Given the description of an element on the screen output the (x, y) to click on. 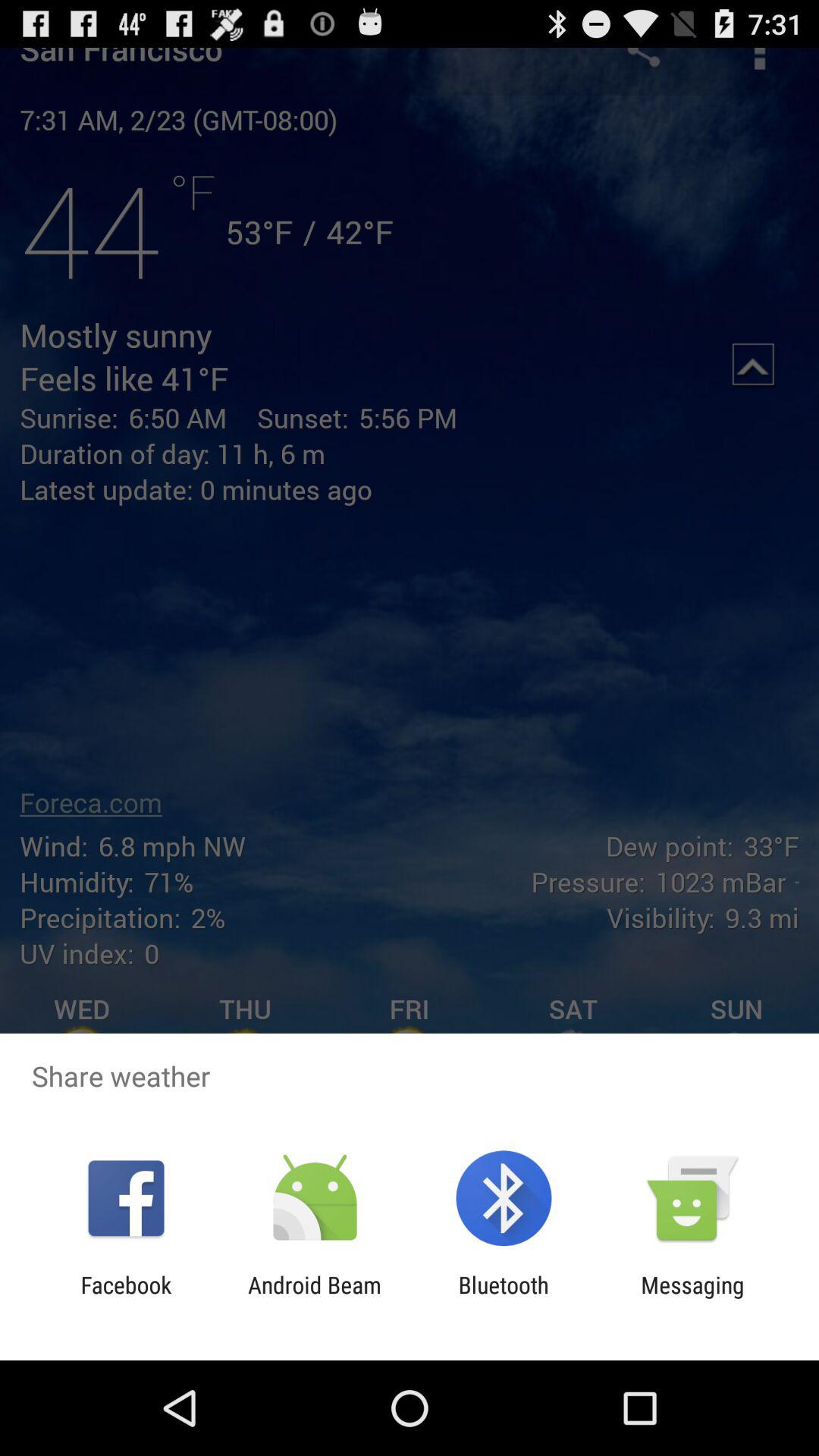
open app to the right of the bluetooth (692, 1298)
